Given the description of an element on the screen output the (x, y) to click on. 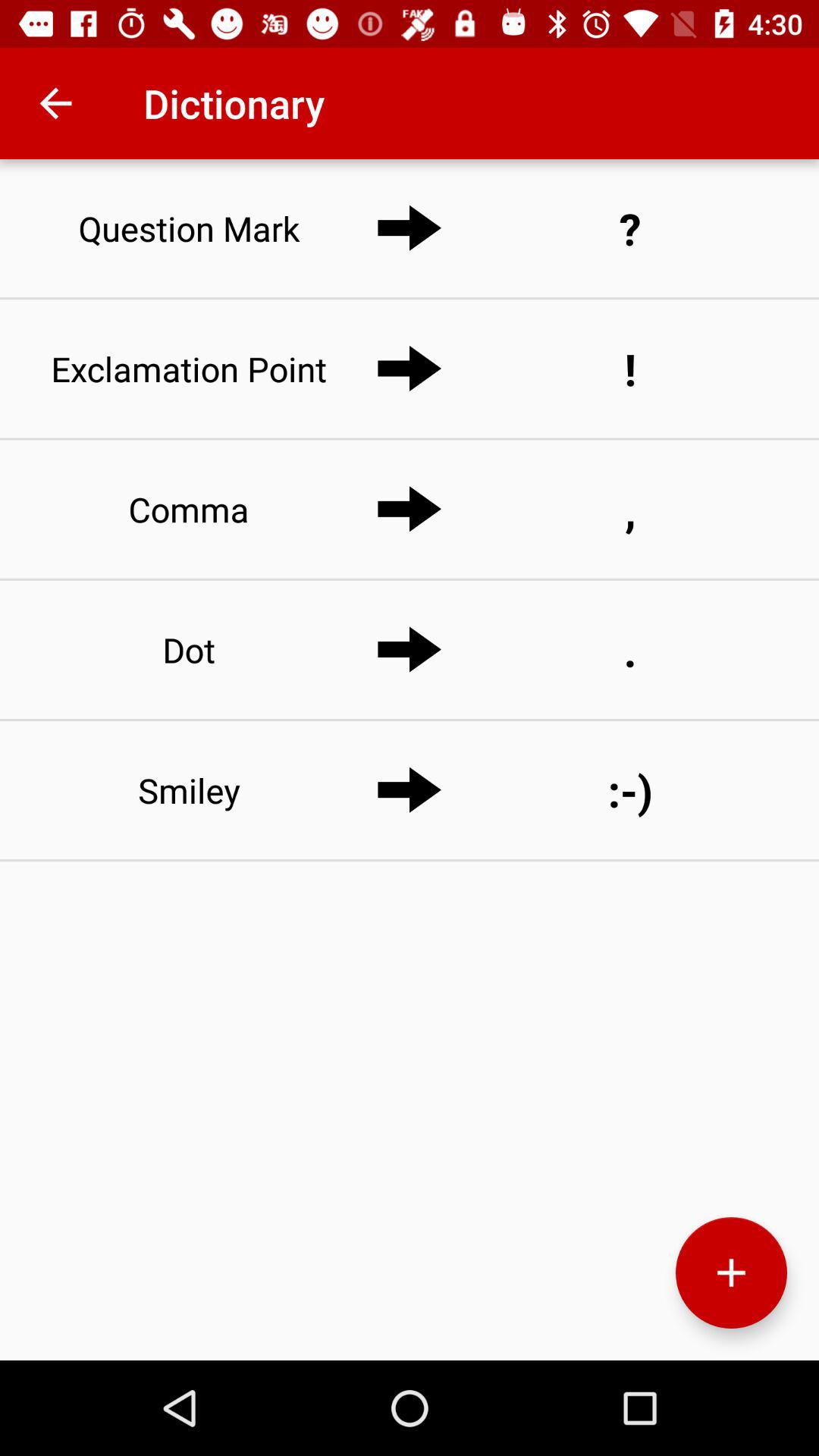
open the sub menu (731, 1272)
